Given the description of an element on the screen output the (x, y) to click on. 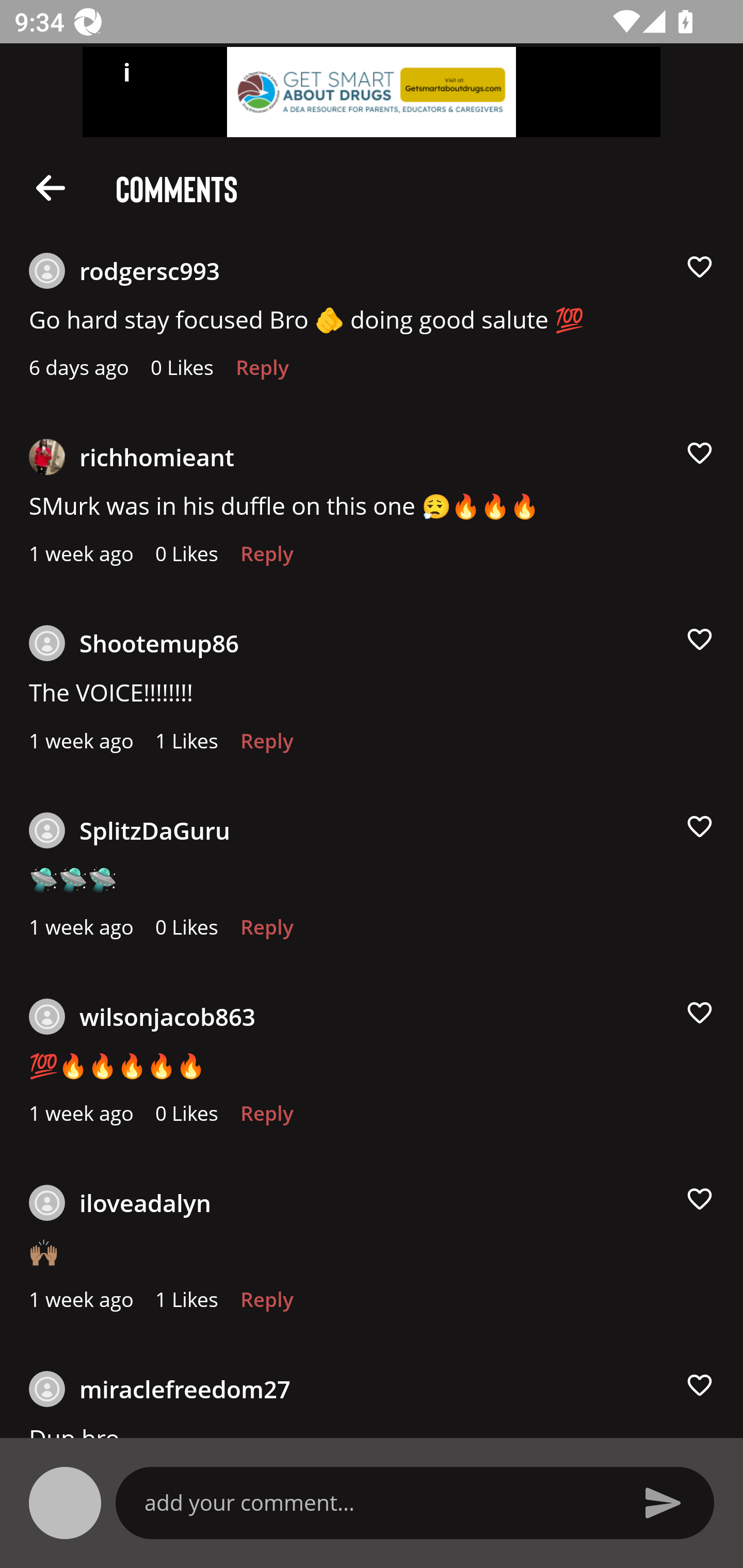
Description (50, 187)
Reply (261, 372)
Reply (266, 558)
Reply (266, 746)
Reply (266, 932)
Reply (266, 1117)
Reply (266, 1304)
add your comment… (378, 1502)
